Given the description of an element on the screen output the (x, y) to click on. 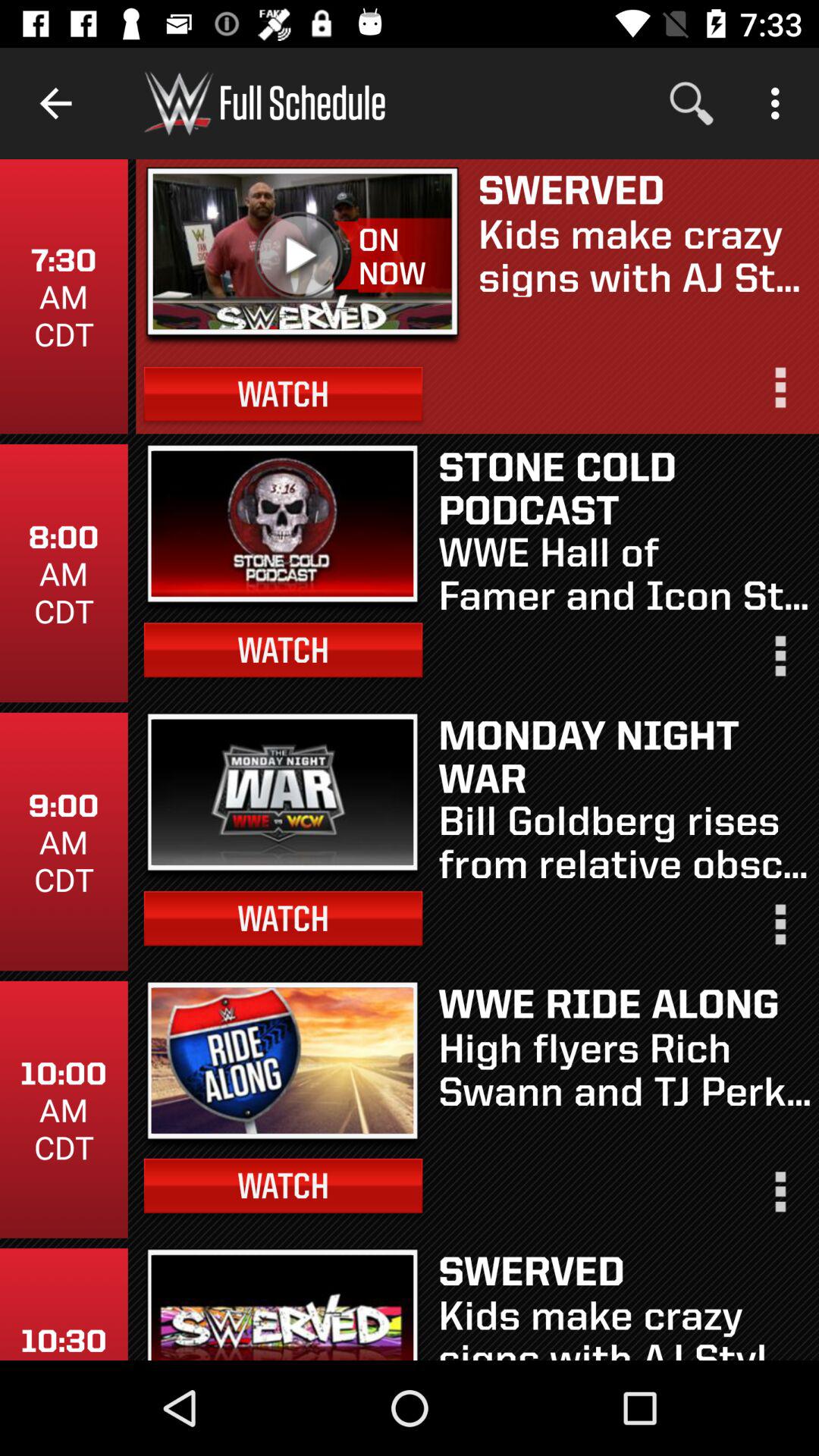
click item next to on now icon (302, 256)
